Given the description of an element on the screen output the (x, y) to click on. 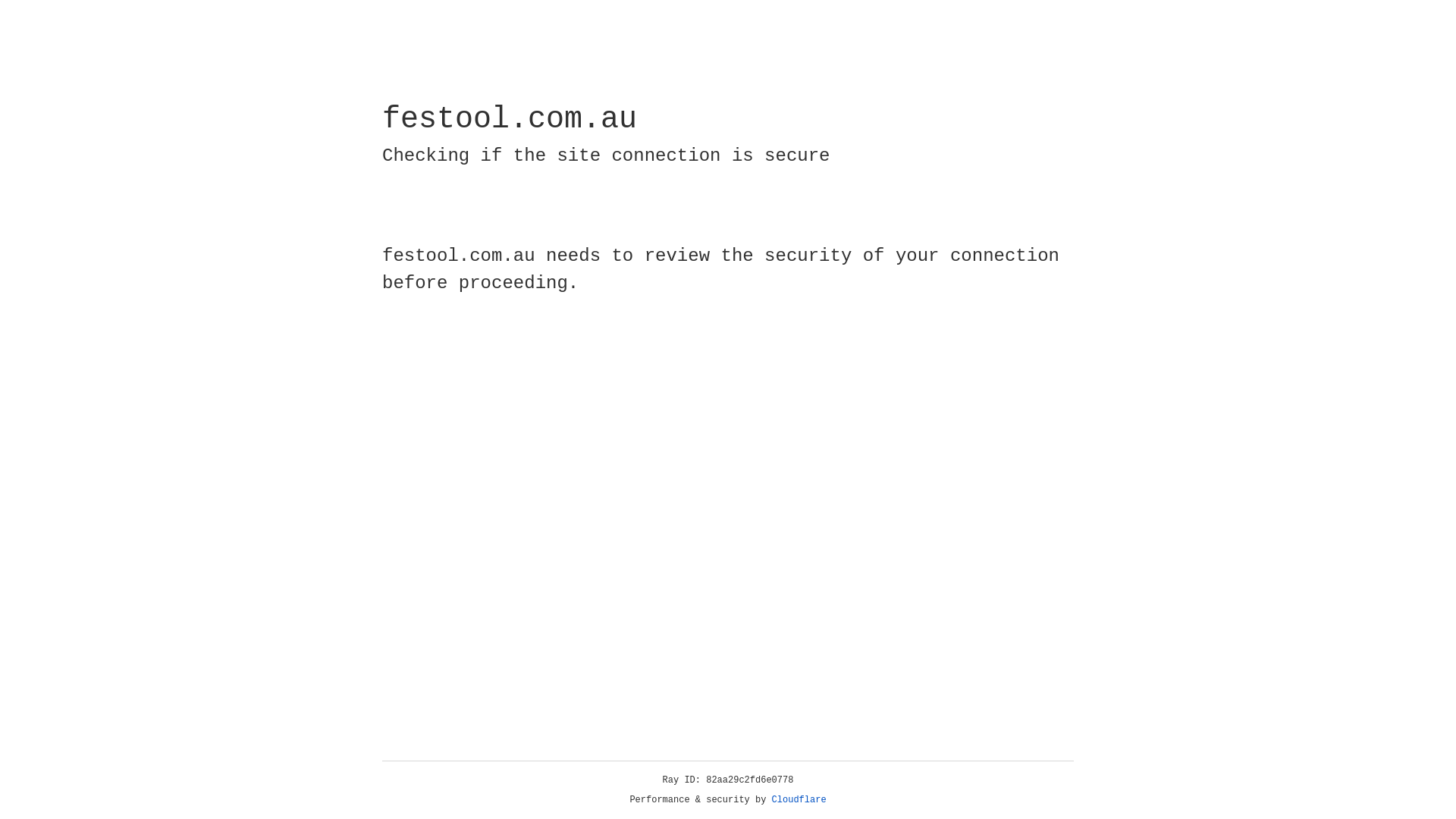
Cloudflare Element type: text (798, 799)
